Given the description of an element on the screen output the (x, y) to click on. 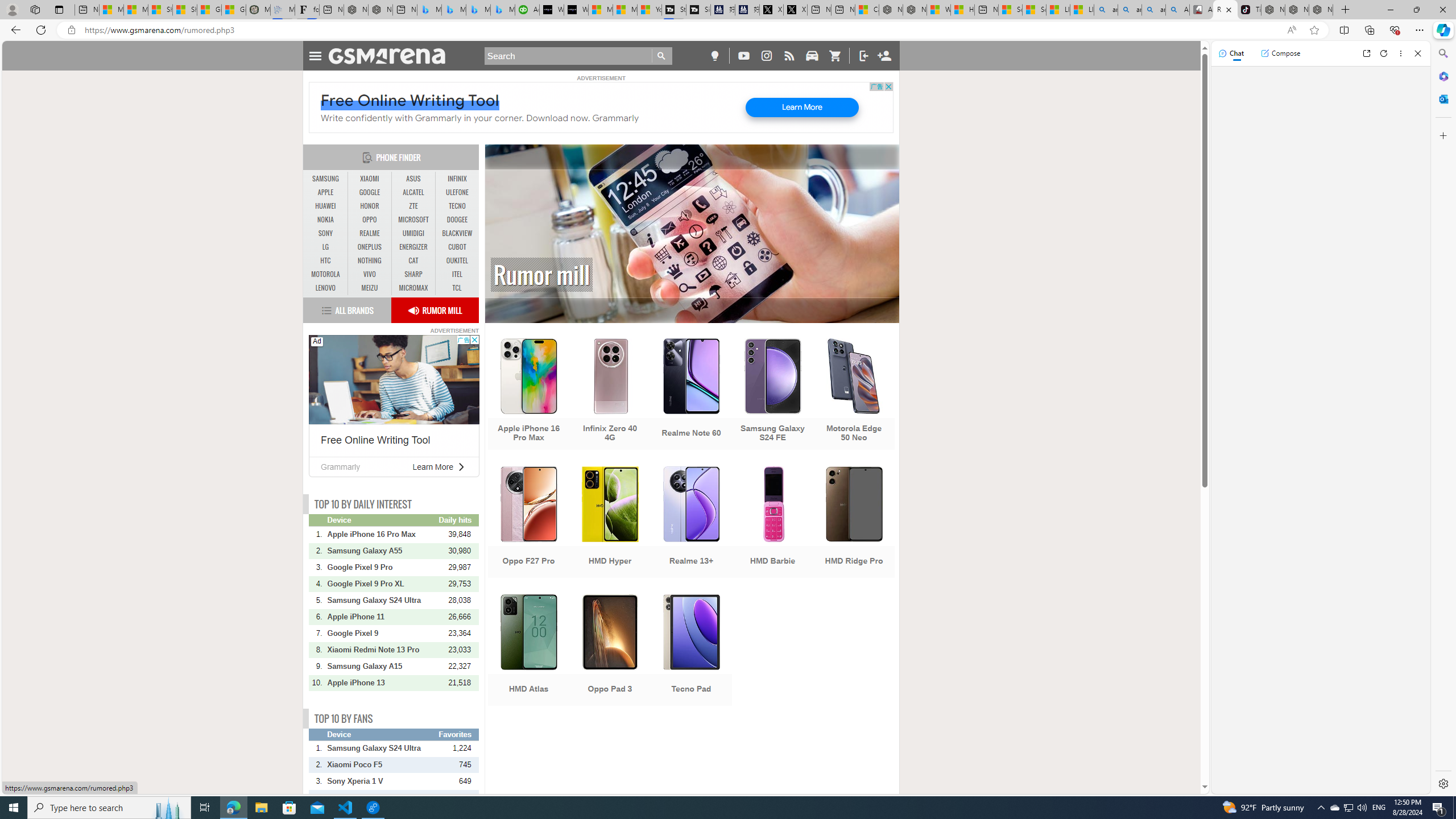
Settings (1442, 783)
Side bar (1443, 418)
SAMSUNG (325, 178)
Sony Xperia 1 V (381, 781)
LENOVO (325, 287)
MICROMAX (413, 287)
Amazon Echo Robot - Search Images (1176, 9)
BLACKVIEW (457, 233)
HMD Ridge Pro (853, 523)
BLACKVIEW (457, 233)
ULEFONE (457, 192)
ALCATEL (413, 192)
TECNO (457, 206)
